Given the description of an element on the screen output the (x, y) to click on. 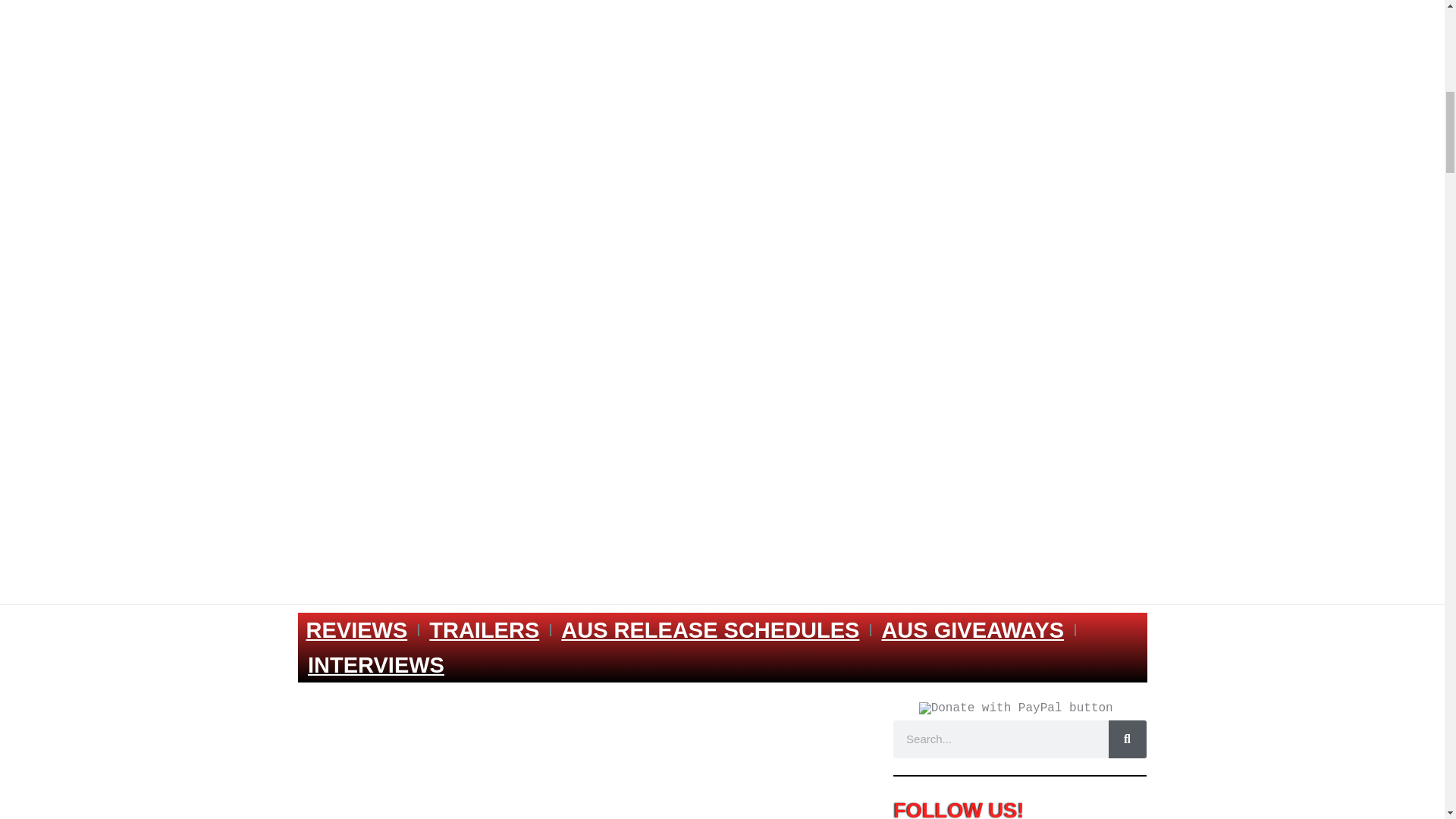
PayPal - The safer, easier way to pay online! (1015, 707)
TRAILERS (483, 629)
INTERVIEWS (375, 664)
AUS RELEASE SCHEDULES (710, 629)
Search (1127, 739)
AUS GIVEAWAYS (971, 629)
REVIEWS (355, 629)
